Given the description of an element on the screen output the (x, y) to click on. 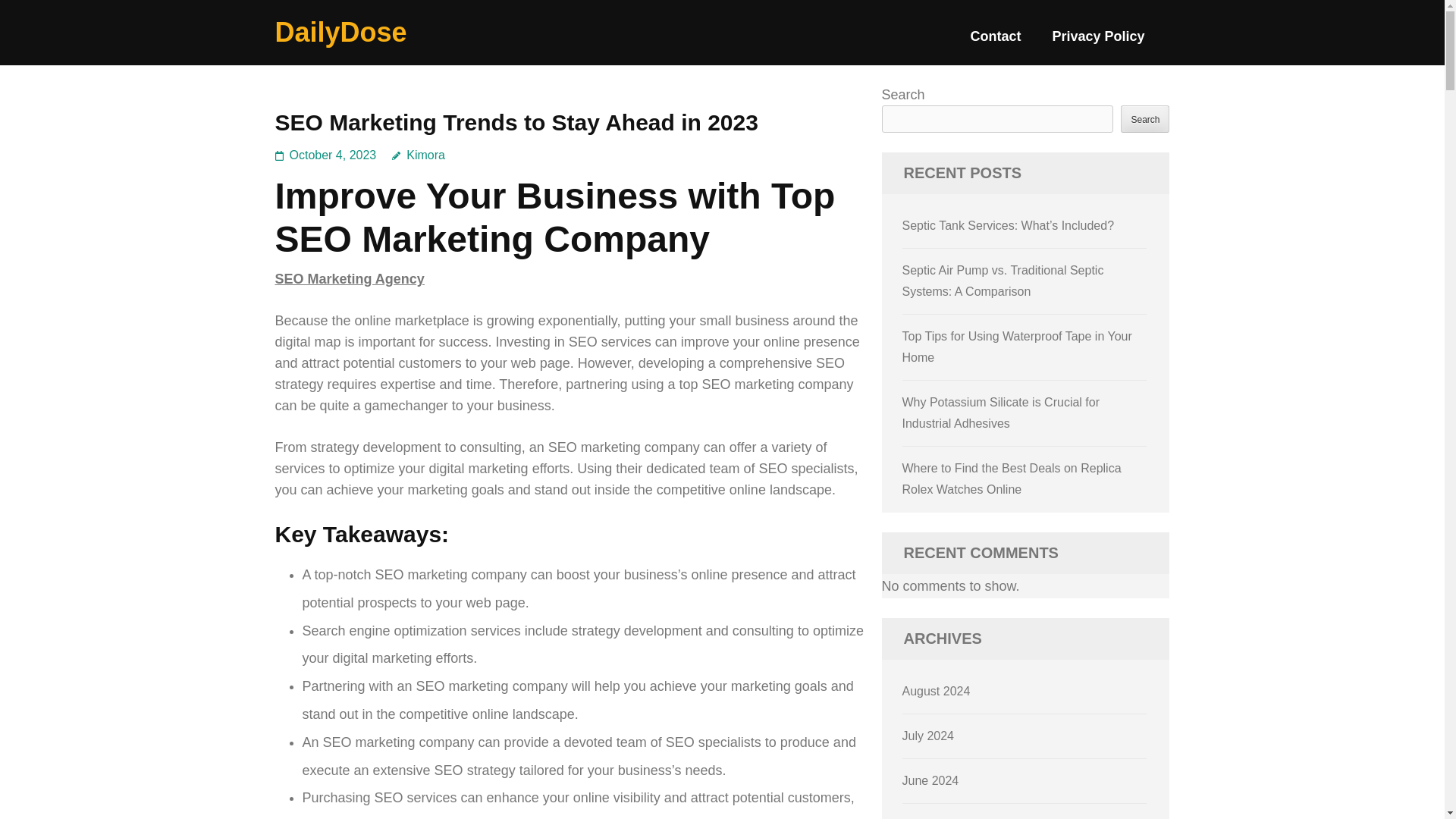
October 4, 2023 (333, 154)
Why Potassium Silicate is Crucial for Industrial Adhesives (1001, 412)
Search (1145, 118)
Contact (994, 42)
Septic Air Pump vs. Traditional Septic Systems: A Comparison (1002, 280)
Kimora (418, 154)
June 2024 (930, 780)
August 2024 (936, 690)
Privacy Policy (1097, 42)
SEO Marketing Agency (349, 278)
